Given the description of an element on the screen output the (x, y) to click on. 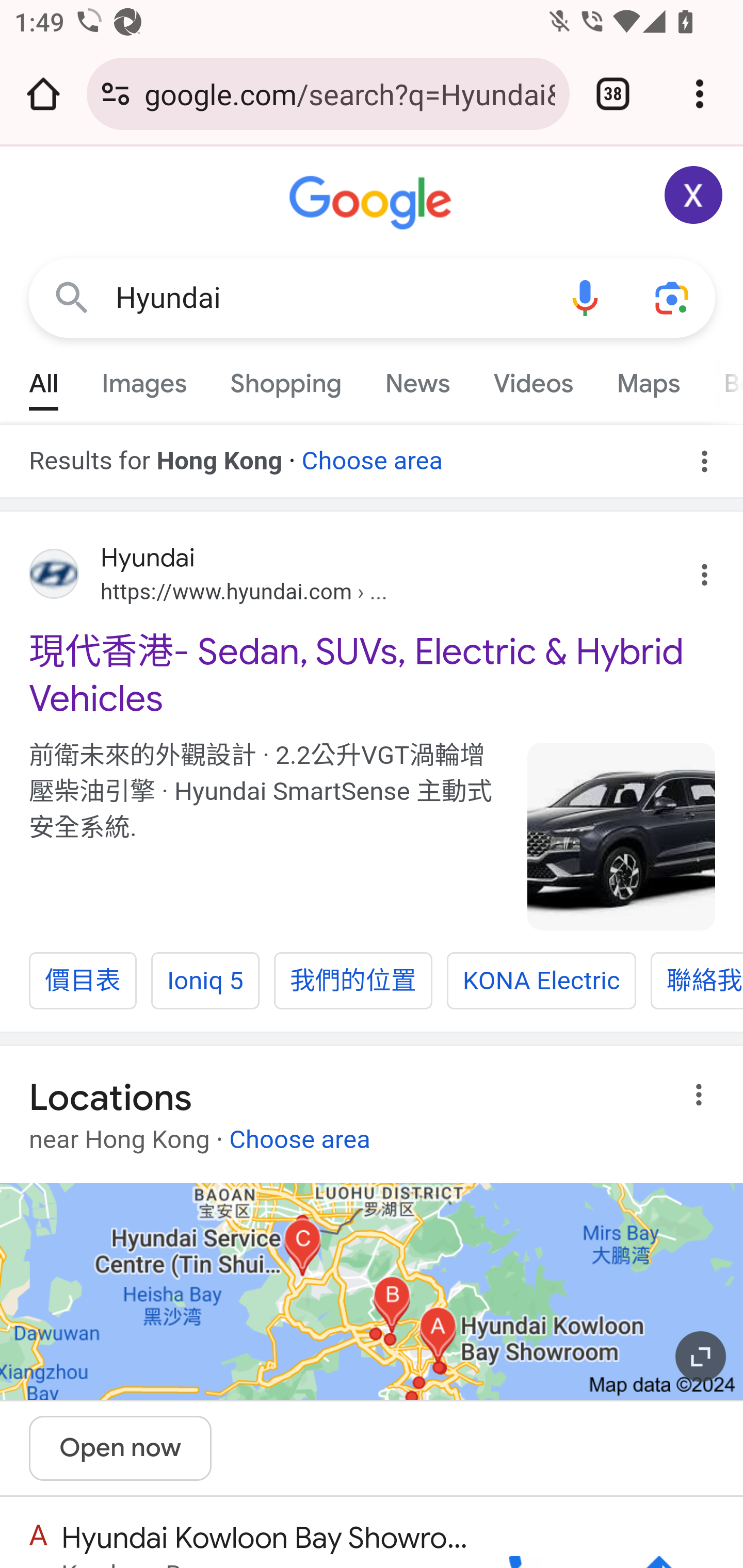
Open the home page (43, 93)
Connection is secure (115, 93)
Switch or close tabs (612, 93)
Customize and control Google Chrome (699, 93)
Google (372, 203)
Google Account: Xiaoran (zxrappiumtest@gmail.com) (694, 195)
Google Search (71, 296)
Search using your camera or photos (672, 296)
Hyundai (328, 297)
Images (144, 378)
Shopping (285, 378)
News (417, 378)
Videos (533, 378)
Maps (647, 378)
Choose area (371, 453)
現代香港- Sedan, SUVs, Electric & Hybrid Vehicles (372, 674)
zh (621, 836)
價目表 (82, 981)
Ioniq 5 (204, 981)
我們的位置 (352, 981)
KONA Electric (541, 981)
聯絡我們 (696, 981)
About this result (702, 1095)
Choose area (299, 1132)
Map of Hyundai (371, 1291)
Open now (120, 1447)
